Given the description of an element on the screen output the (x, y) to click on. 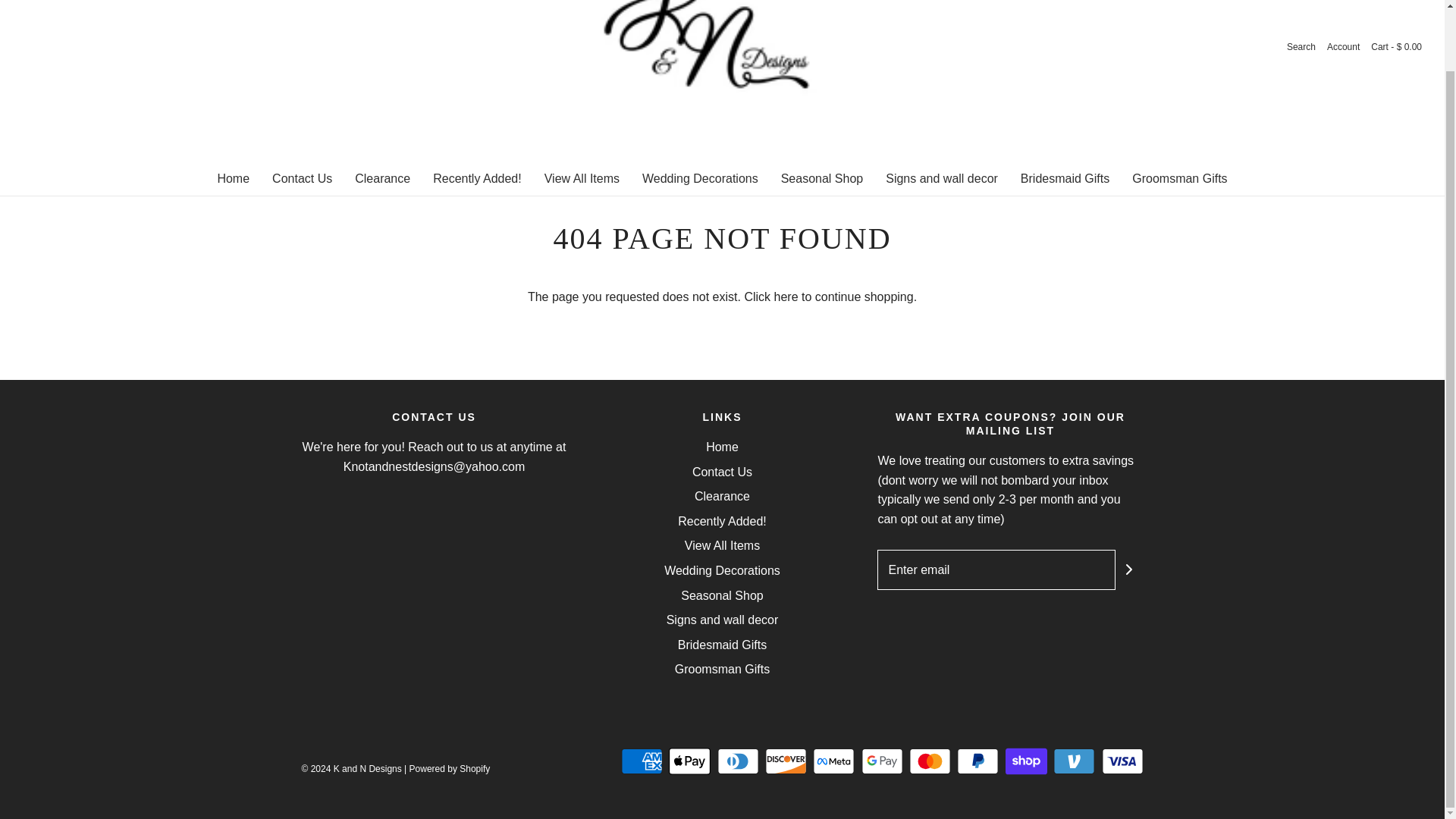
Home (232, 178)
American Express (641, 761)
Mastercard (929, 761)
Search (1301, 47)
Search (1301, 47)
Discover (785, 761)
Diners Club (737, 761)
Visa (1121, 761)
Meta Pay (833, 761)
Log in (1342, 47)
